Given the description of an element on the screen output the (x, y) to click on. 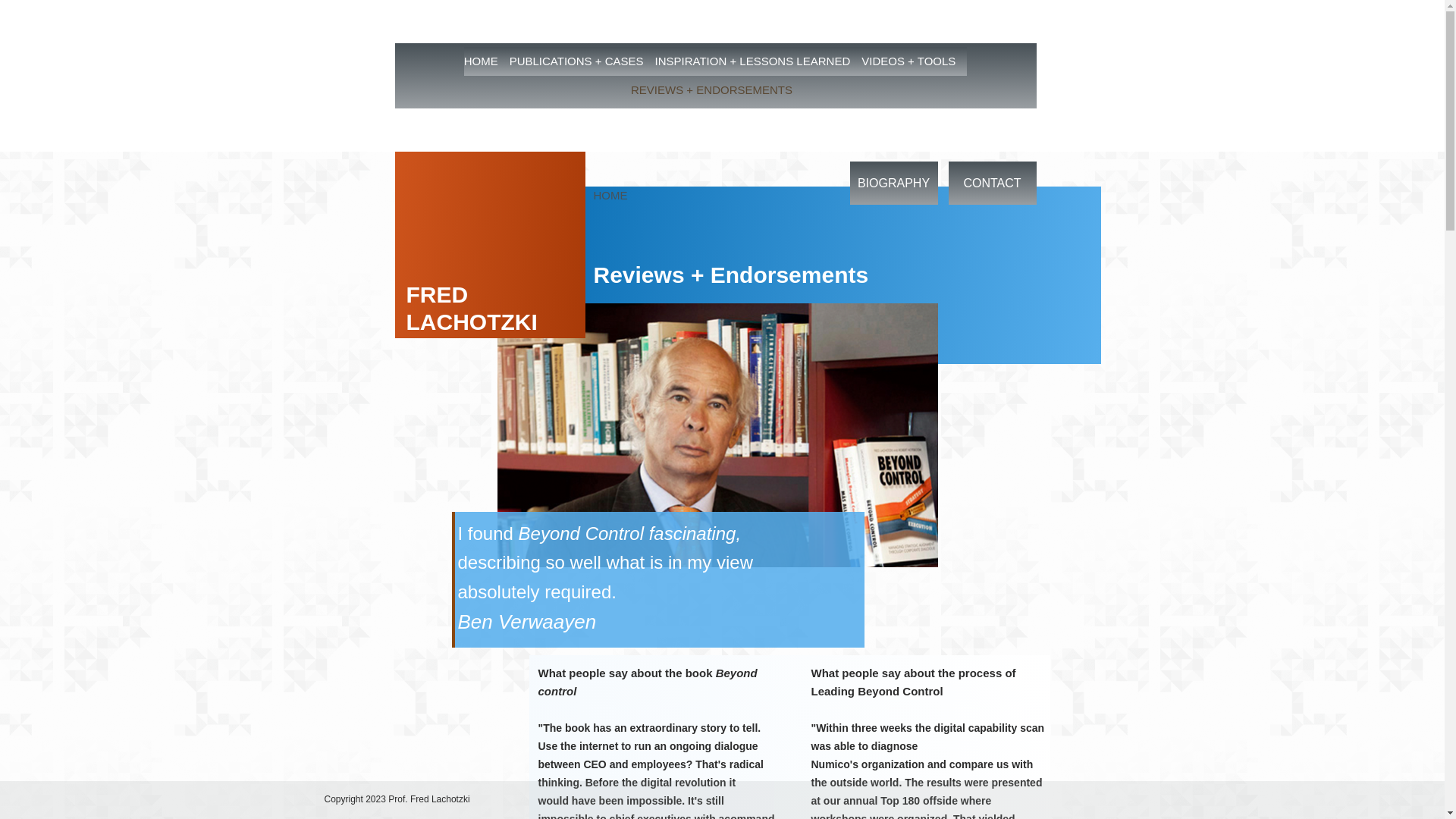
BIOGRAPHY (892, 182)
CONTACT (991, 182)
HOME (609, 195)
HOME (484, 61)
